Given the description of an element on the screen output the (x, y) to click on. 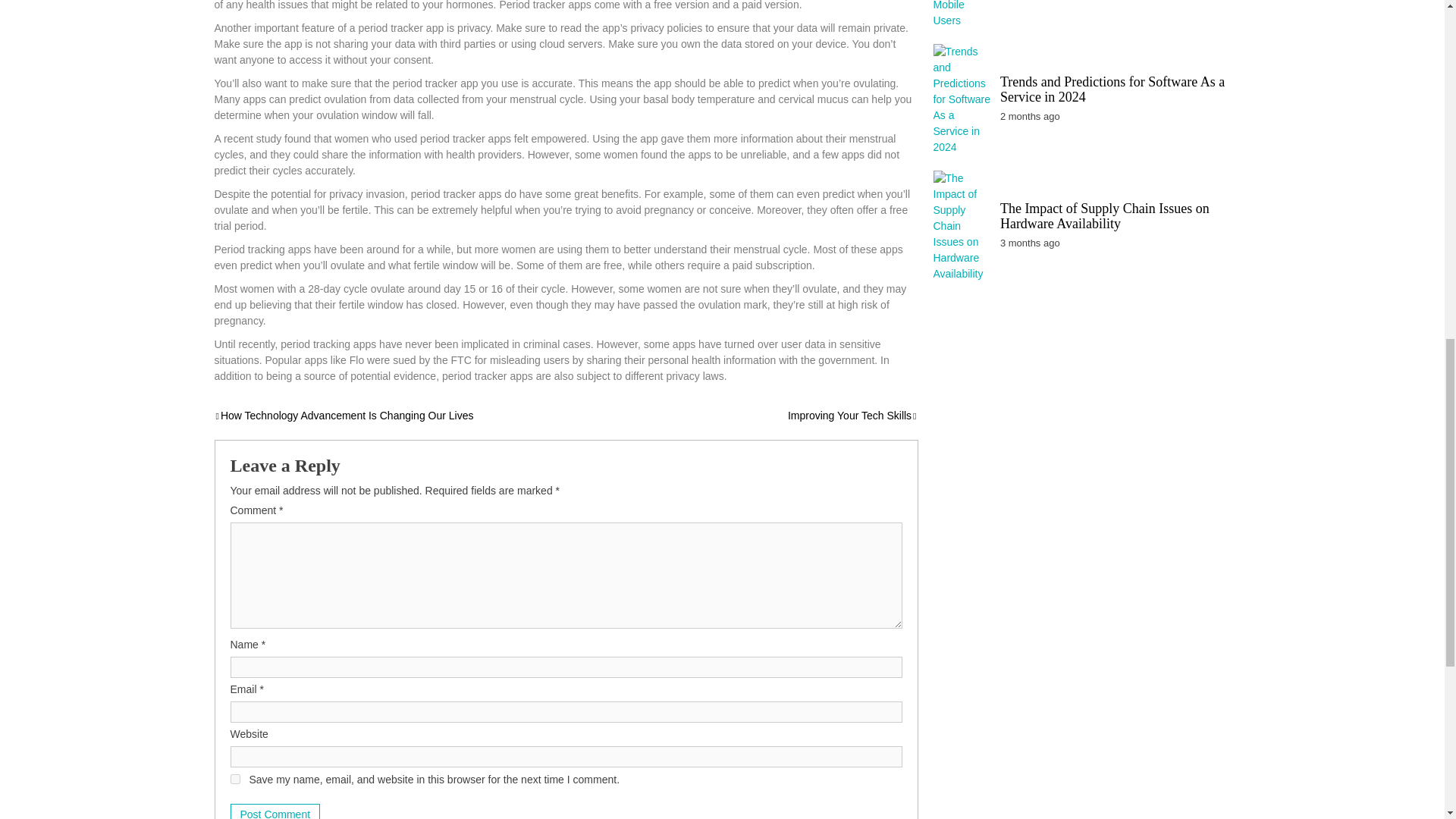
The Impact of Supply Chain Issues on Hardware Availability (1104, 215)
How Technology Advancement Is Changing Our Lives (343, 415)
Improving Your Tech Skills (852, 415)
Post Comment (275, 811)
Post Comment (275, 811)
yes (235, 778)
Trends and Predictions for Software As a Service in 2024 (1112, 89)
